Given the description of an element on the screen output the (x, y) to click on. 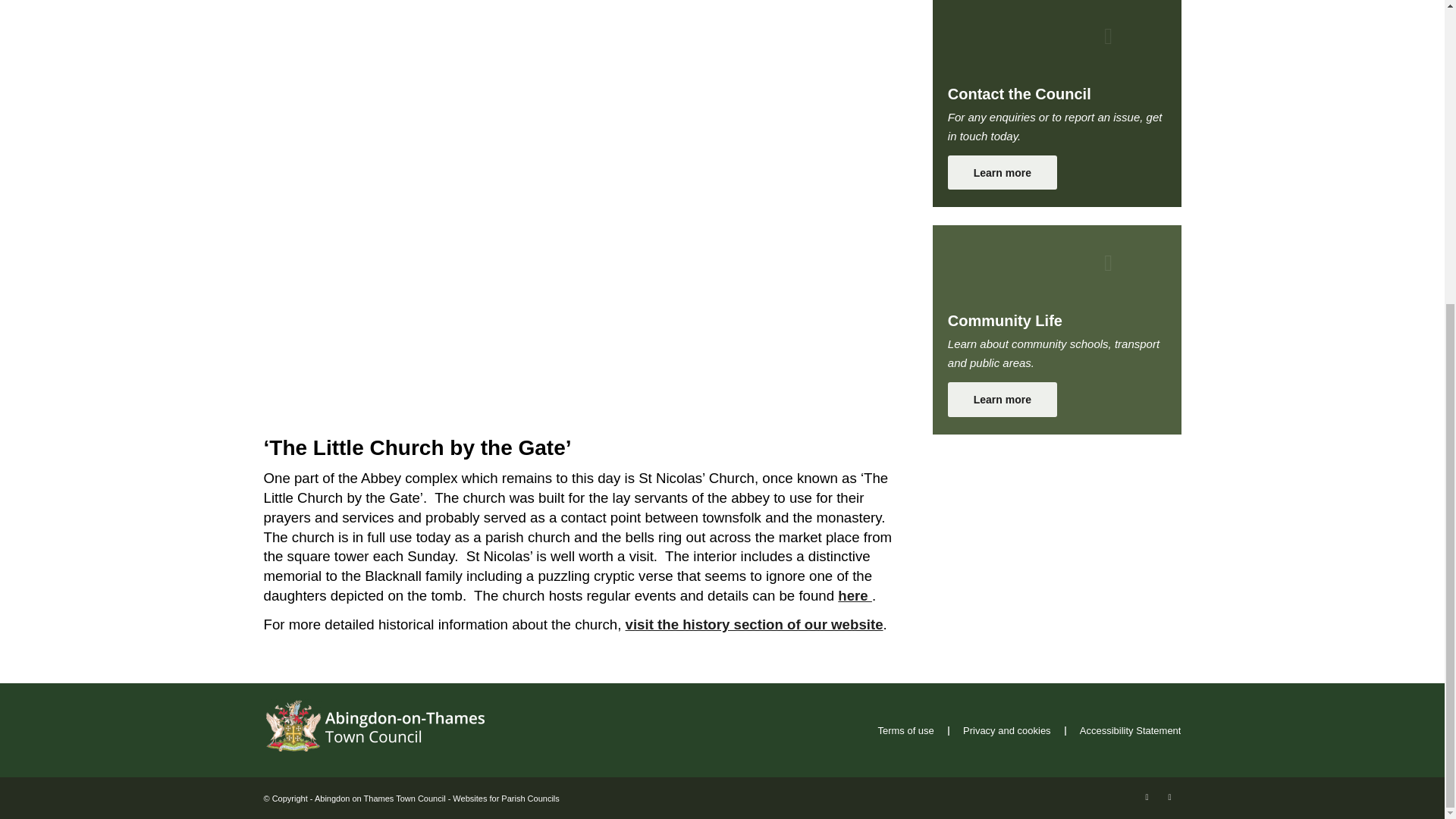
Twitter (1169, 796)
Facebook (1146, 796)
